Given the description of an element on the screen output the (x, y) to click on. 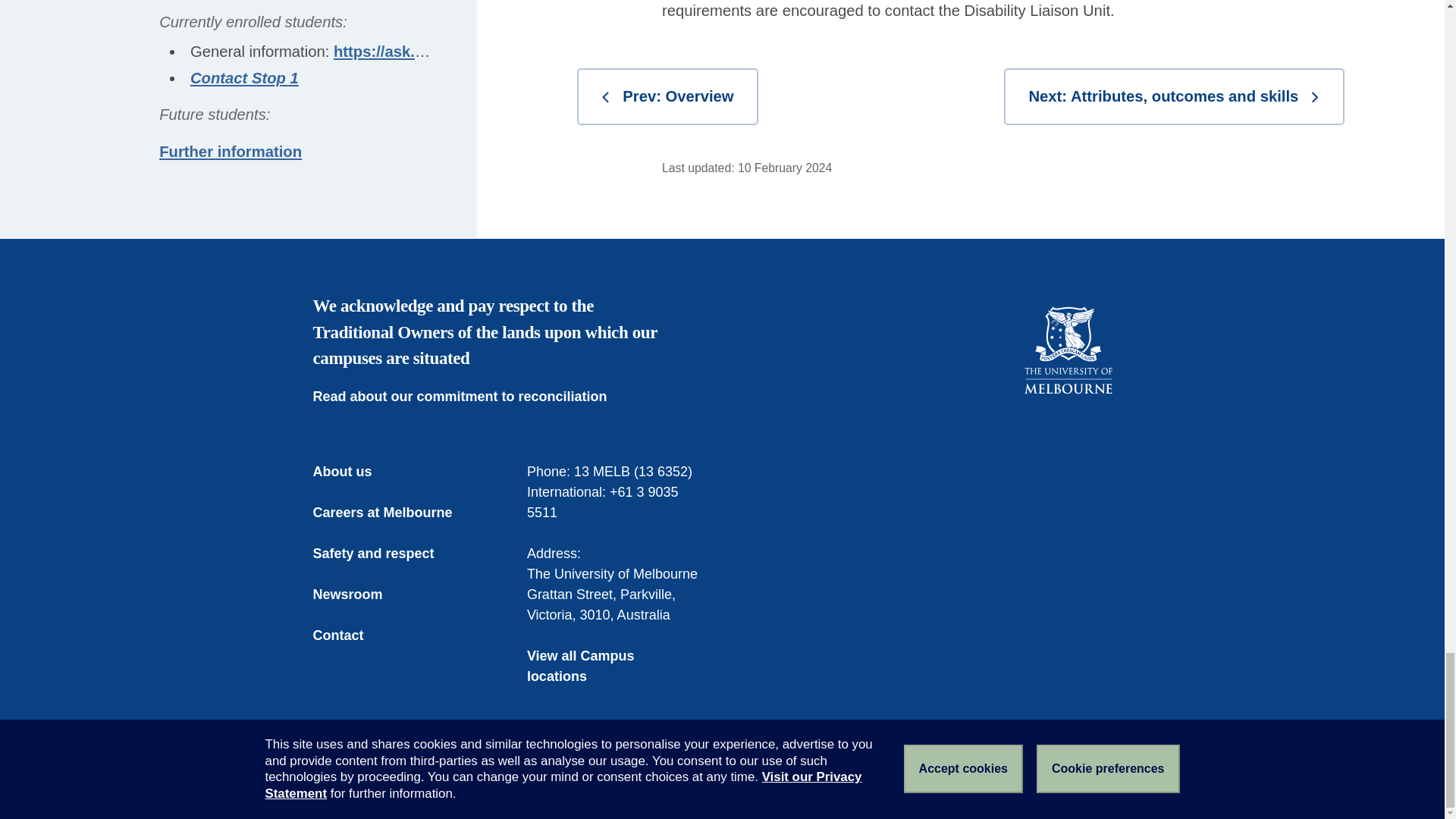
Contact (349, 635)
Next: Attributes, outcomes and skills (1173, 96)
About us (353, 471)
Prev: Overview (667, 96)
Read about our commitment to reconciliation (470, 396)
View all Campus locations (615, 666)
Emergency (345, 780)
Safety and respect (384, 553)
Careers at Melbourne (393, 512)
Newsroom (358, 594)
